Given the description of an element on the screen output the (x, y) to click on. 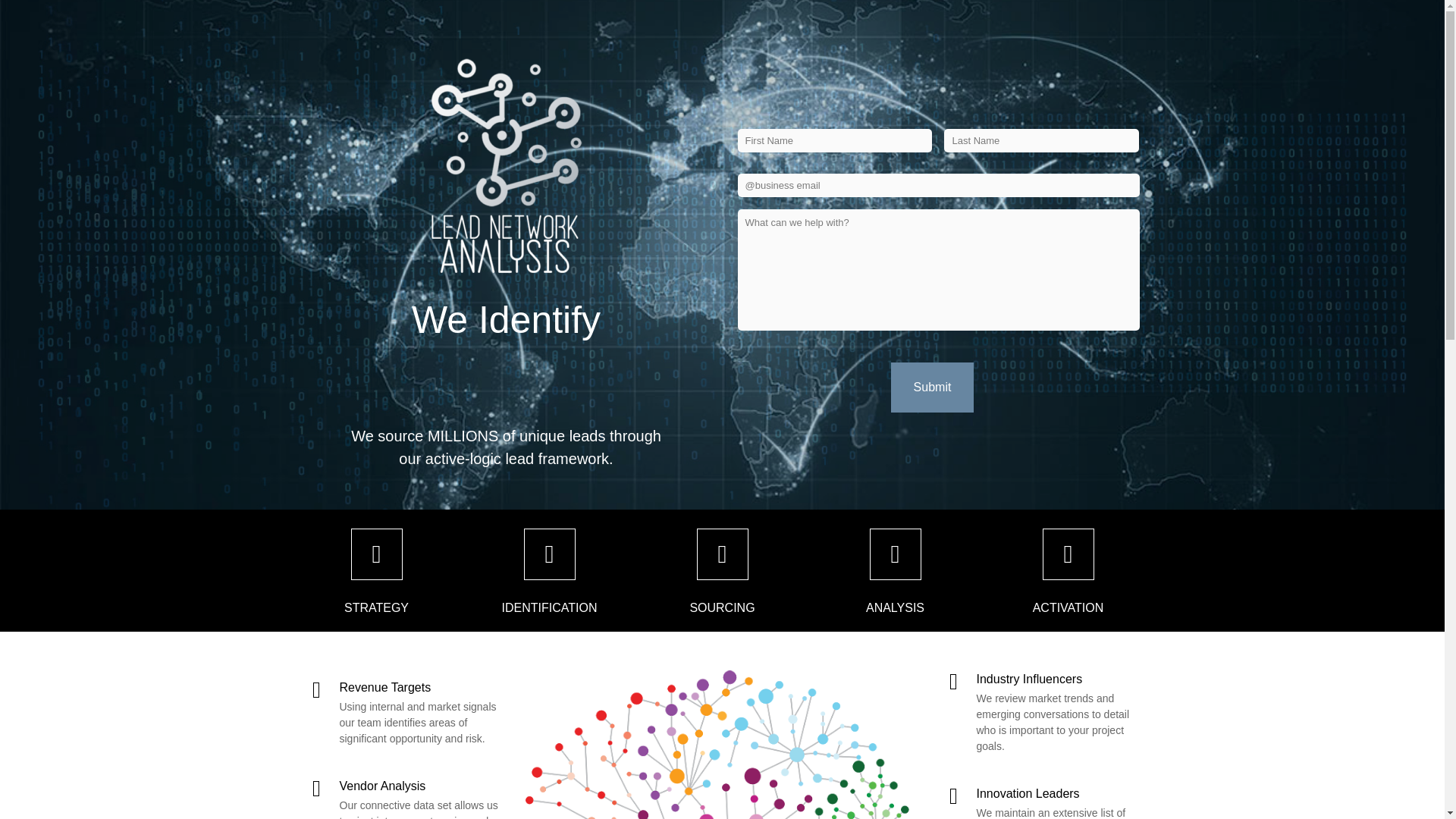
LeadNetworkAnalysis-Mind-600 (721, 740)
Submit (932, 387)
Submit (932, 387)
